Given the description of an element on the screen output the (x, y) to click on. 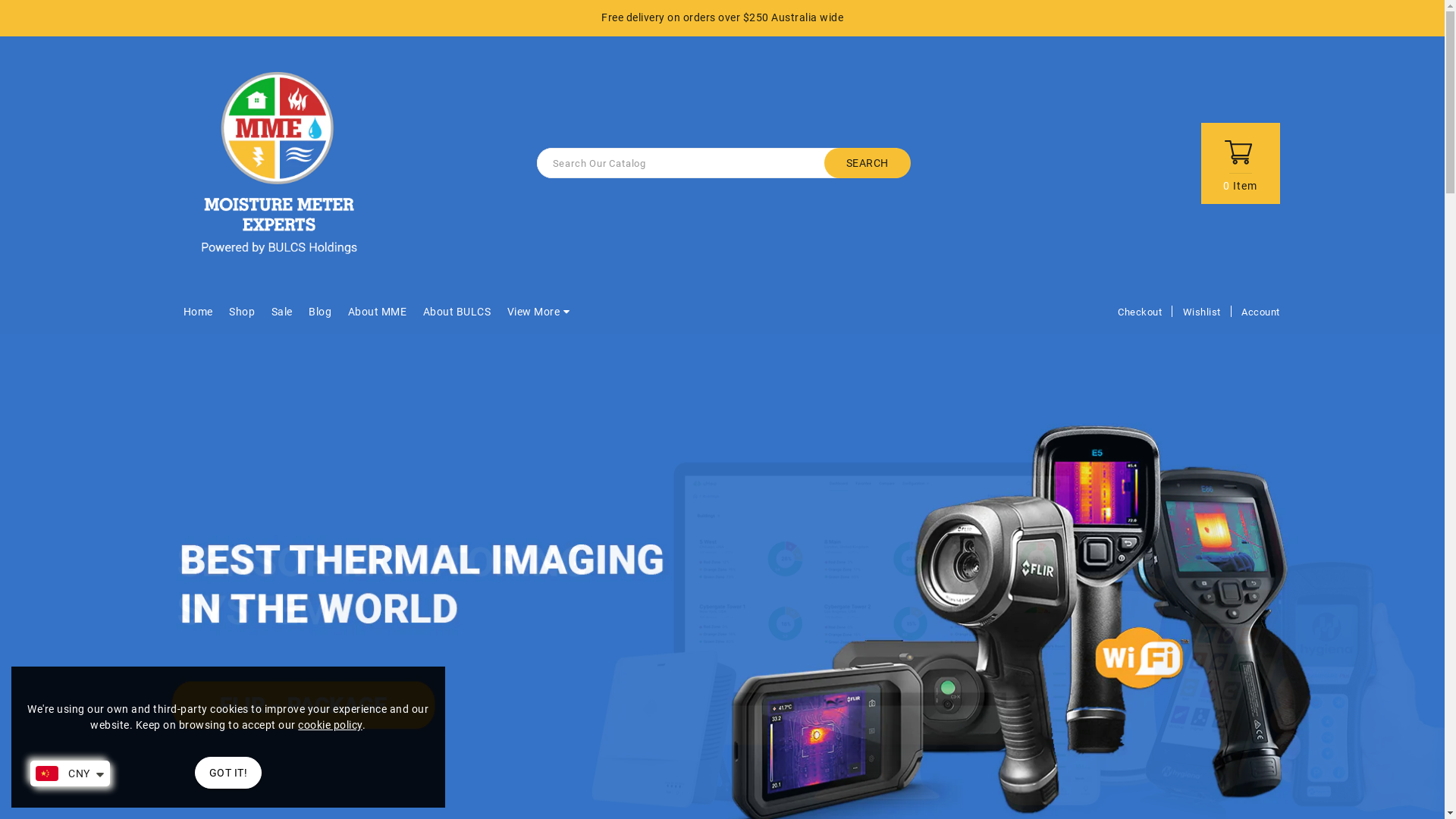
GOT IT! Element type: text (227, 772)
Account Element type: text (1260, 313)
Blog Element type: text (319, 311)
About MME Element type: text (377, 311)
Shop Element type: text (241, 311)
Checkout Element type: text (1139, 311)
Wishlist Element type: text (1201, 311)
About BULCS Element type: text (456, 311)
cookie policy Element type: text (330, 724)
View More Element type: text (533, 311)
Sale Element type: text (280, 311)
Free delivery on orders over $250 Australia wide Element type: text (722, 17)
Home Element type: text (197, 311)
SEARCH Element type: text (866, 162)
